Given the description of an element on the screen output the (x, y) to click on. 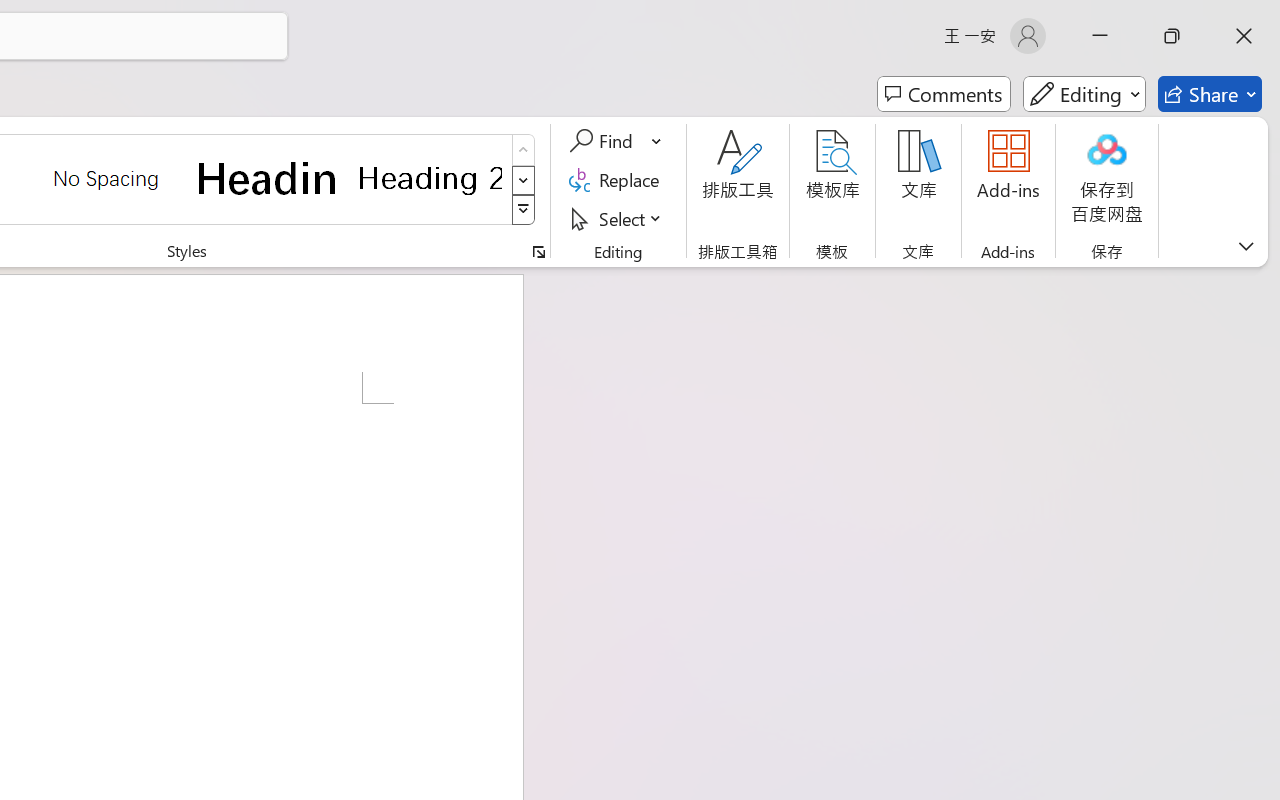
Replace... (617, 179)
